Given the description of an element on the screen output the (x, y) to click on. 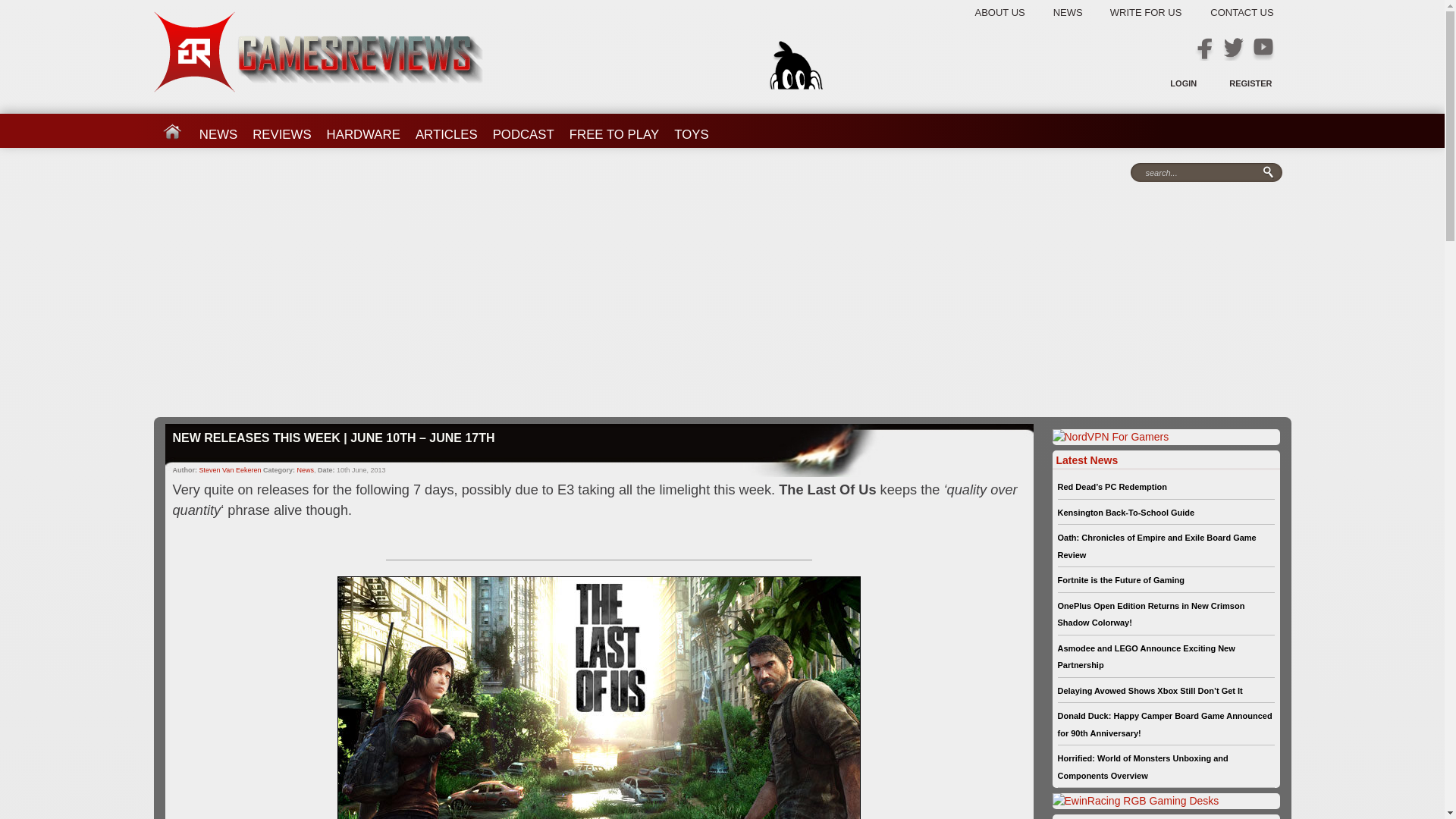
WRITE FOR US (1157, 12)
Follow Us On Twitter (1233, 48)
LOGIN (1183, 82)
Follow Us On Facebook (1203, 48)
search... (1201, 173)
CONTACT US (1239, 12)
HARDWARE (362, 128)
NEWS (1079, 12)
ABOUT US (1010, 12)
Posts by Steven van Eekeren (230, 470)
